Given the description of an element on the screen output the (x, y) to click on. 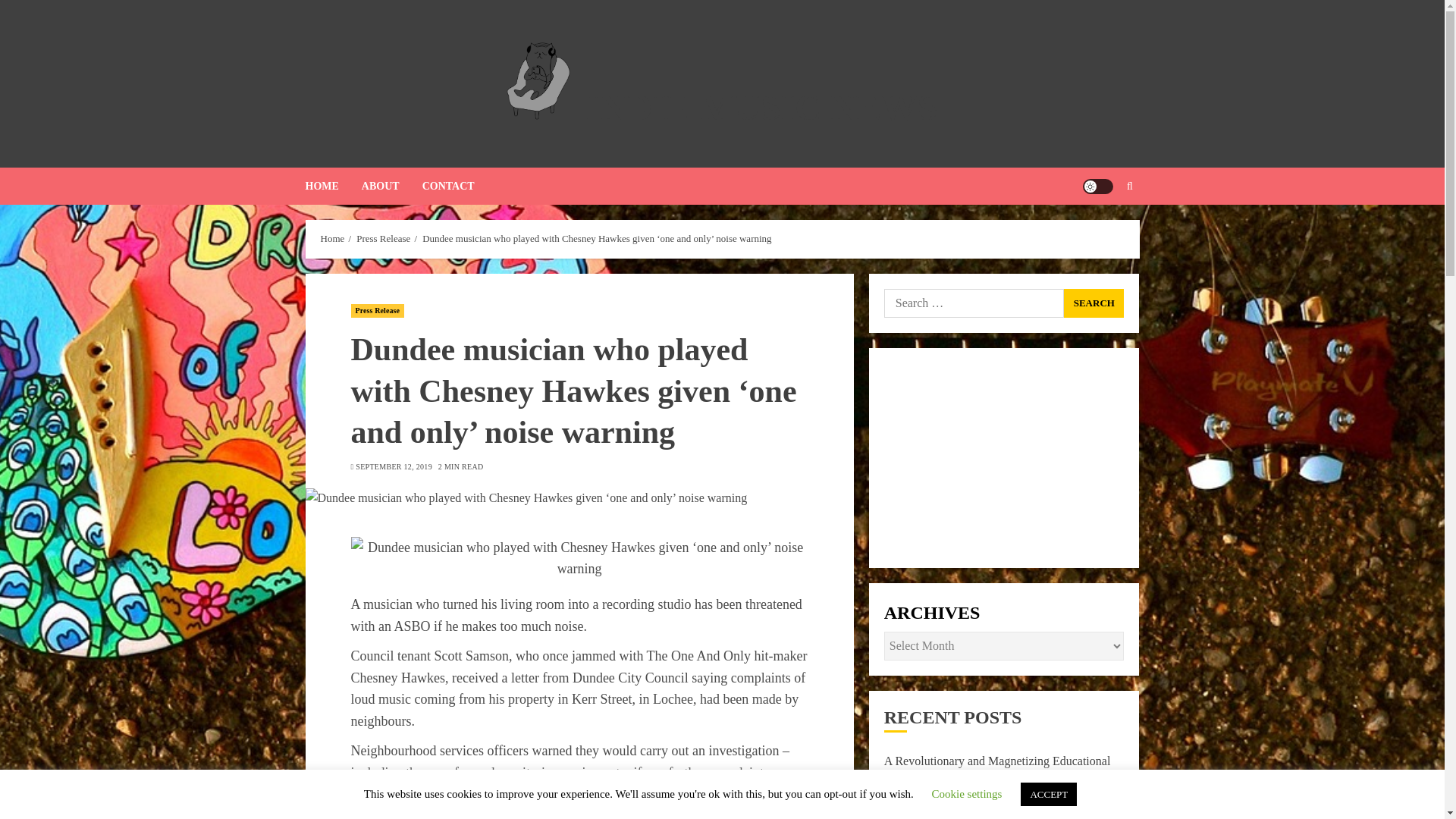
Advertisement (1003, 457)
Search (1094, 303)
SEPTEMBER 12, 2019 (393, 466)
Search (1099, 231)
Search (1094, 303)
Press Release (377, 310)
Search (1094, 303)
Press Release (383, 238)
Home (331, 238)
HOME (332, 185)
ABOUT (391, 185)
INDIE MUSIC NEWS (761, 106)
CONTACT (448, 185)
Search (1130, 185)
